Given the description of an element on the screen output the (x, y) to click on. 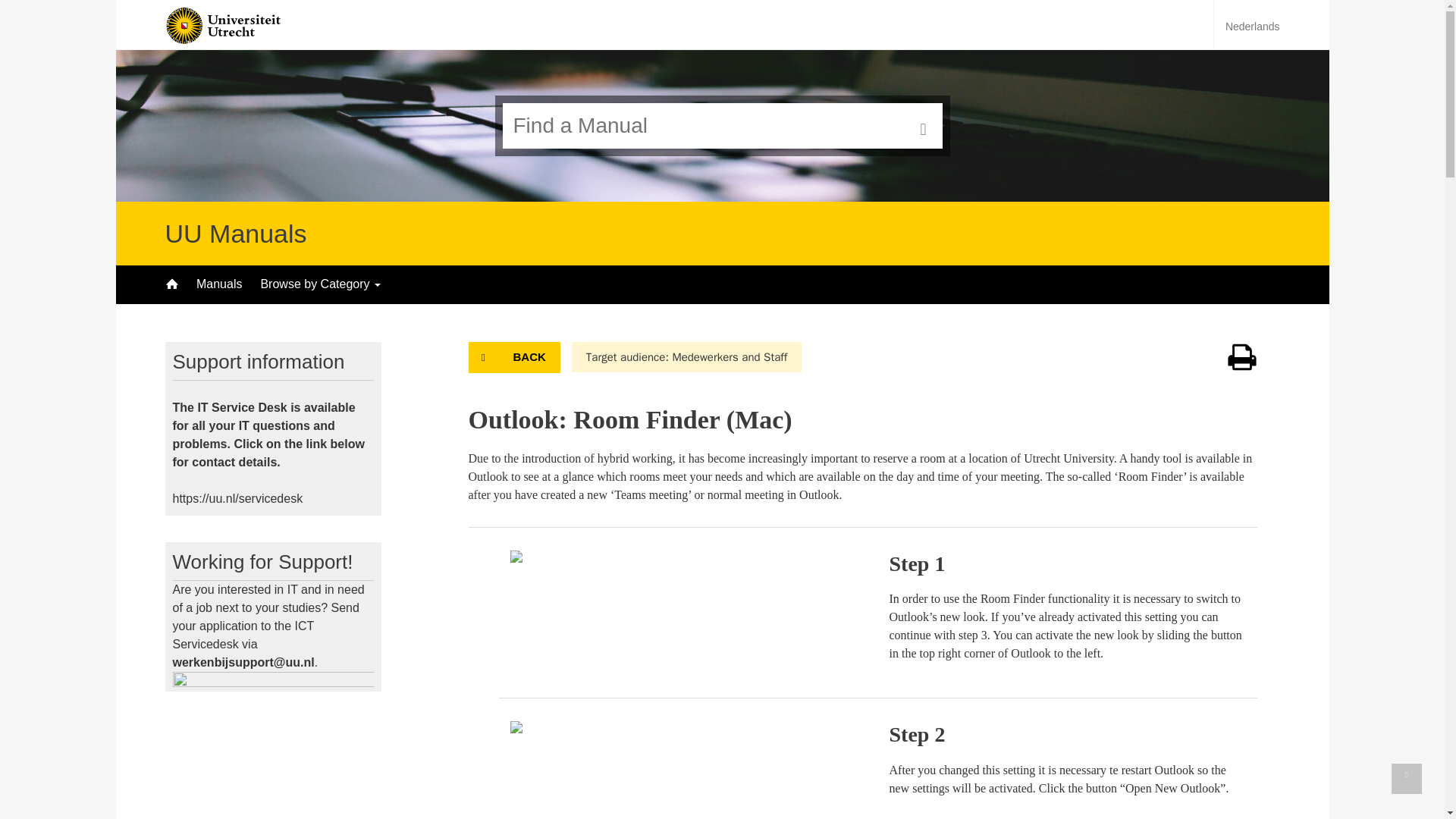
Print this manual (1242, 367)
Nederlands (1252, 26)
Browse by Category (320, 284)
BACK (514, 357)
Manuals (218, 284)
UU Manuals (236, 233)
Browse by Category (320, 284)
UU Manuals (236, 233)
Manuals (218, 284)
